Given the description of an element on the screen output the (x, y) to click on. 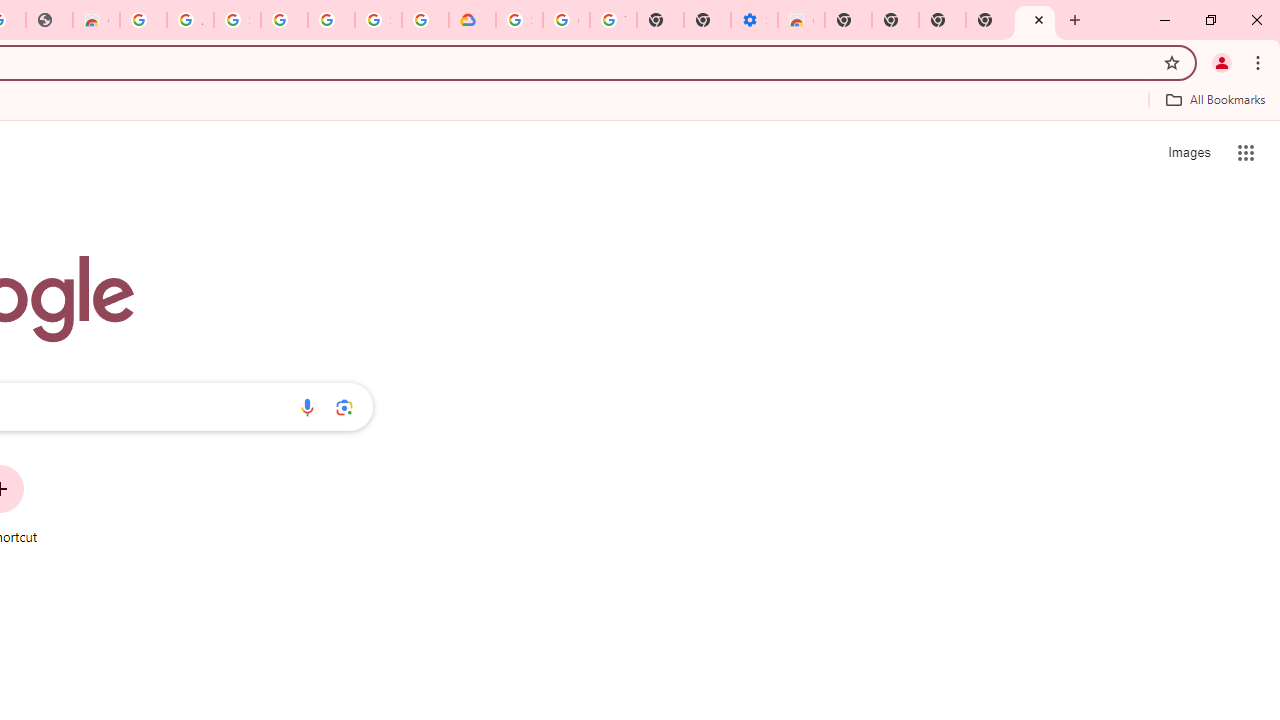
New Tab (1035, 20)
Chrome Web Store - Accessibility extensions (801, 20)
Sign in - Google Accounts (237, 20)
Ad Settings (189, 20)
Google Account Help (566, 20)
New Tab (989, 20)
New Tab (848, 20)
